Given the description of an element on the screen output the (x, y) to click on. 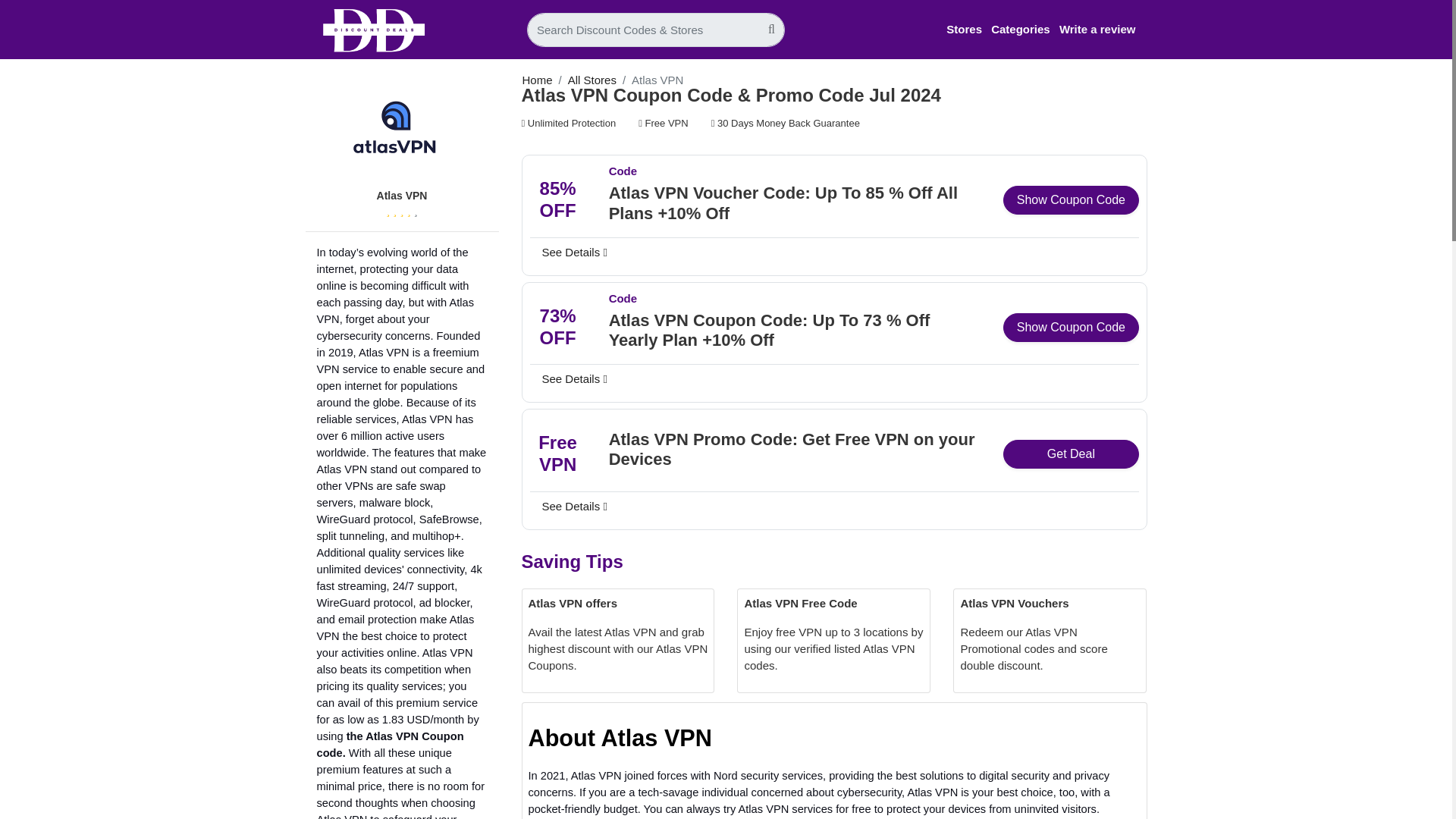
Show Coupon Code (1070, 199)
Get Deal (1070, 453)
discountdeals.ae (373, 29)
Stores (963, 29)
Categories (1020, 29)
See Details (573, 379)
Show Coupon Code (1070, 327)
Write a review (1097, 29)
See Details (573, 252)
Atlas VPN Coupons (401, 132)
See Details (573, 506)
Atlas VPN Promo Code: Get Free VPN on your Devices (794, 456)
Home (536, 79)
All Stores (591, 79)
